Given the description of an element on the screen output the (x, y) to click on. 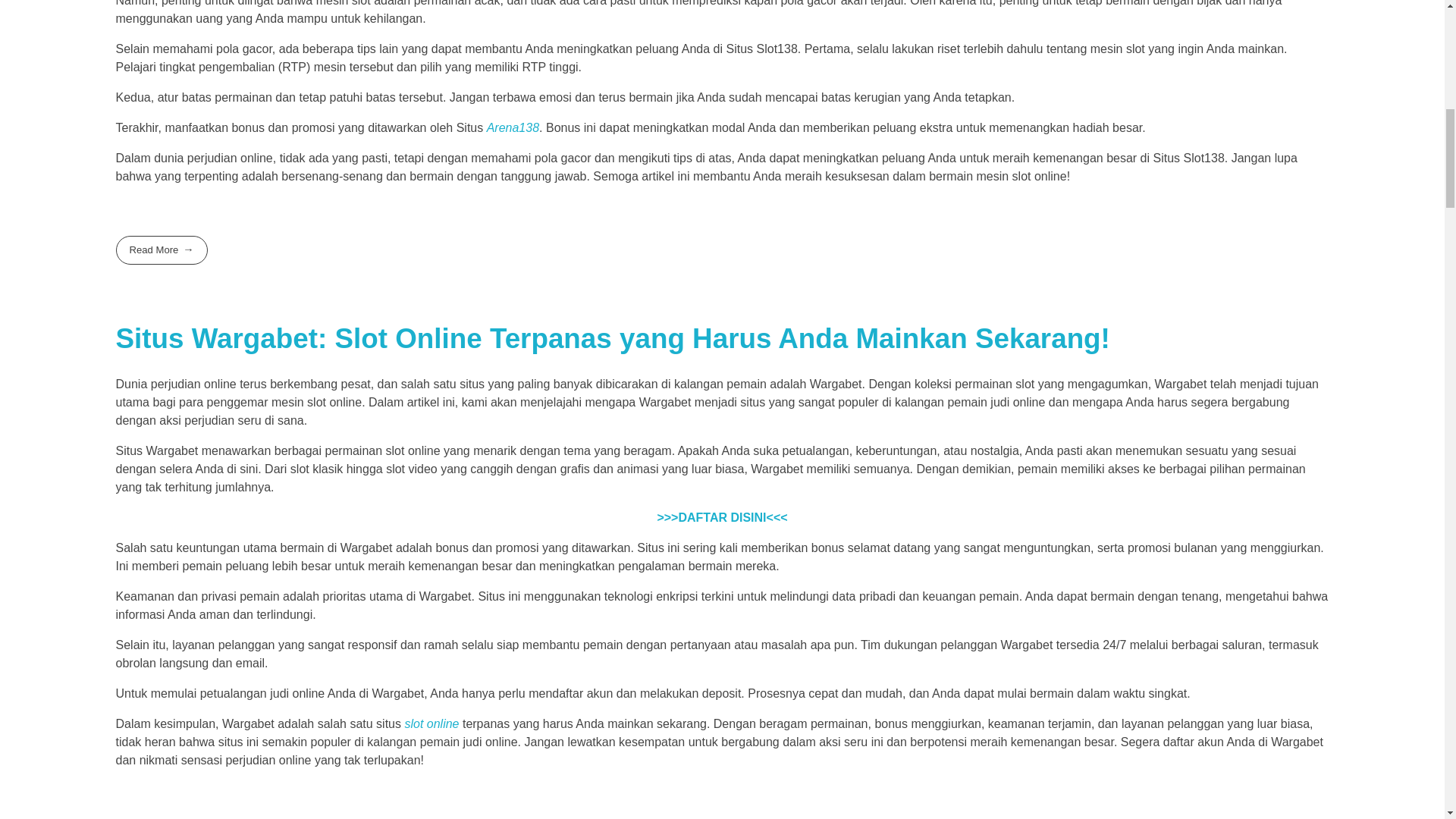
Arena138 (512, 127)
Read More (160, 249)
slot online (431, 723)
